Given the description of an element on the screen output the (x, y) to click on. 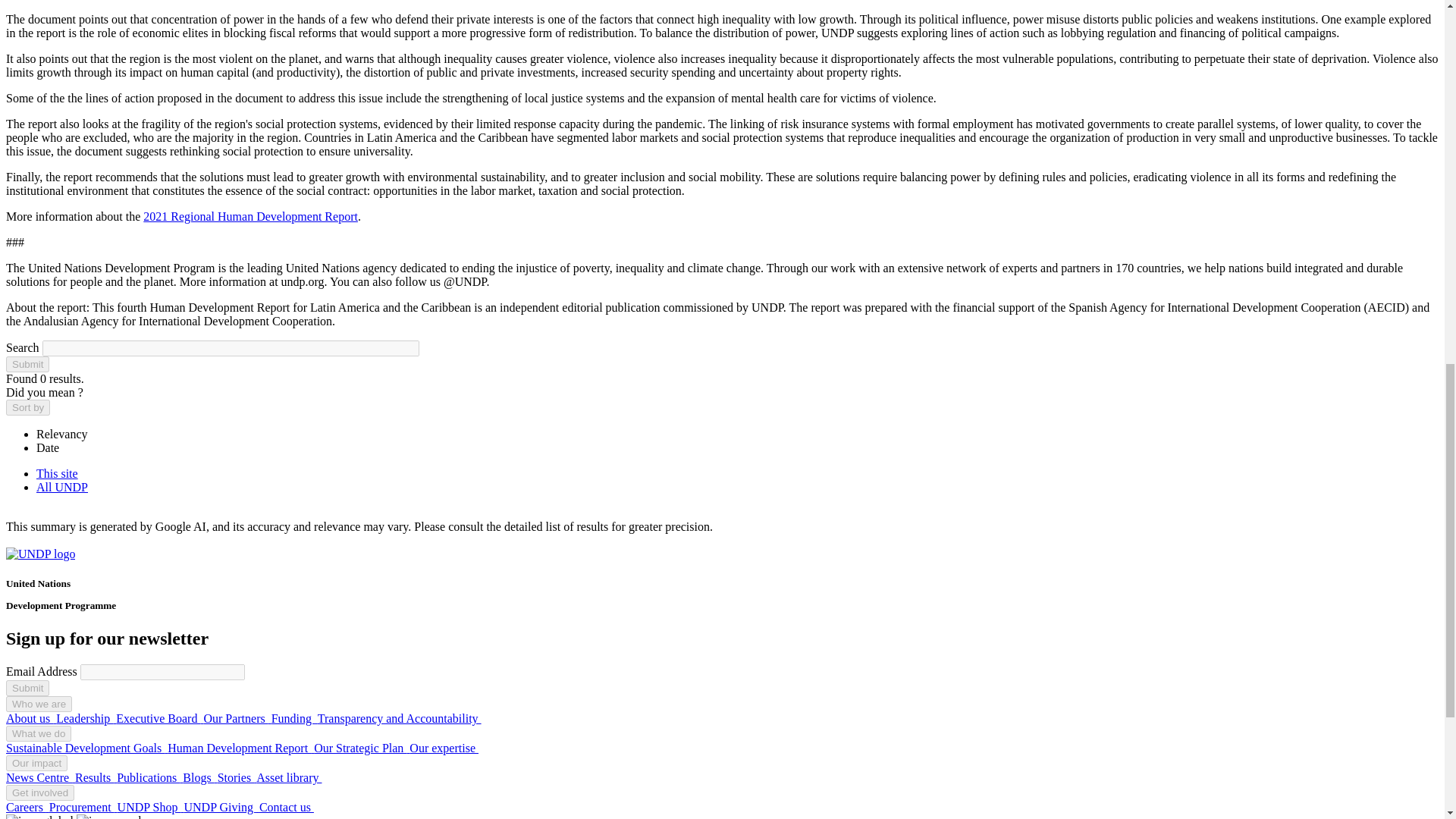
Sort by (27, 407)
Submit (27, 364)
Executive Board (159, 717)
About us (30, 717)
Funding (293, 717)
Leadership (86, 717)
What we do (38, 733)
Our Partners (236, 717)
2021 Regional Human Development Report (250, 215)
All UNDP (61, 486)
Submit (27, 688)
Submit (27, 688)
This site (57, 472)
Transparency and Accountability (399, 717)
Submit (27, 364)
